Given the description of an element on the screen output the (x, y) to click on. 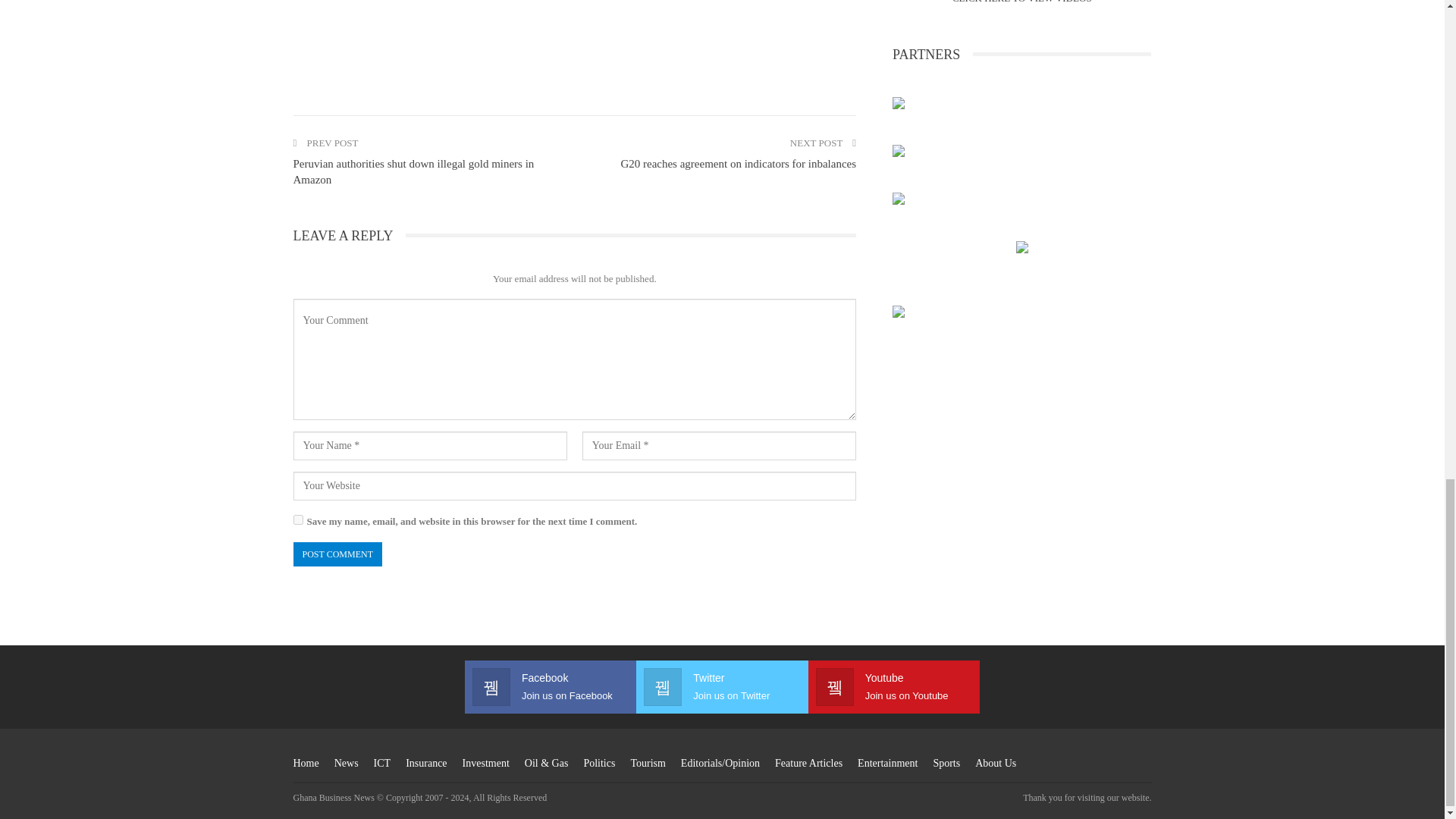
Peruvian authorities shut down illegal gold miners in Amazon (413, 171)
Post Comment (336, 554)
Post Comment (336, 554)
G20 reaches agreement on indicators for inbalances (738, 163)
yes (297, 519)
